Given the description of an element on the screen output the (x, y) to click on. 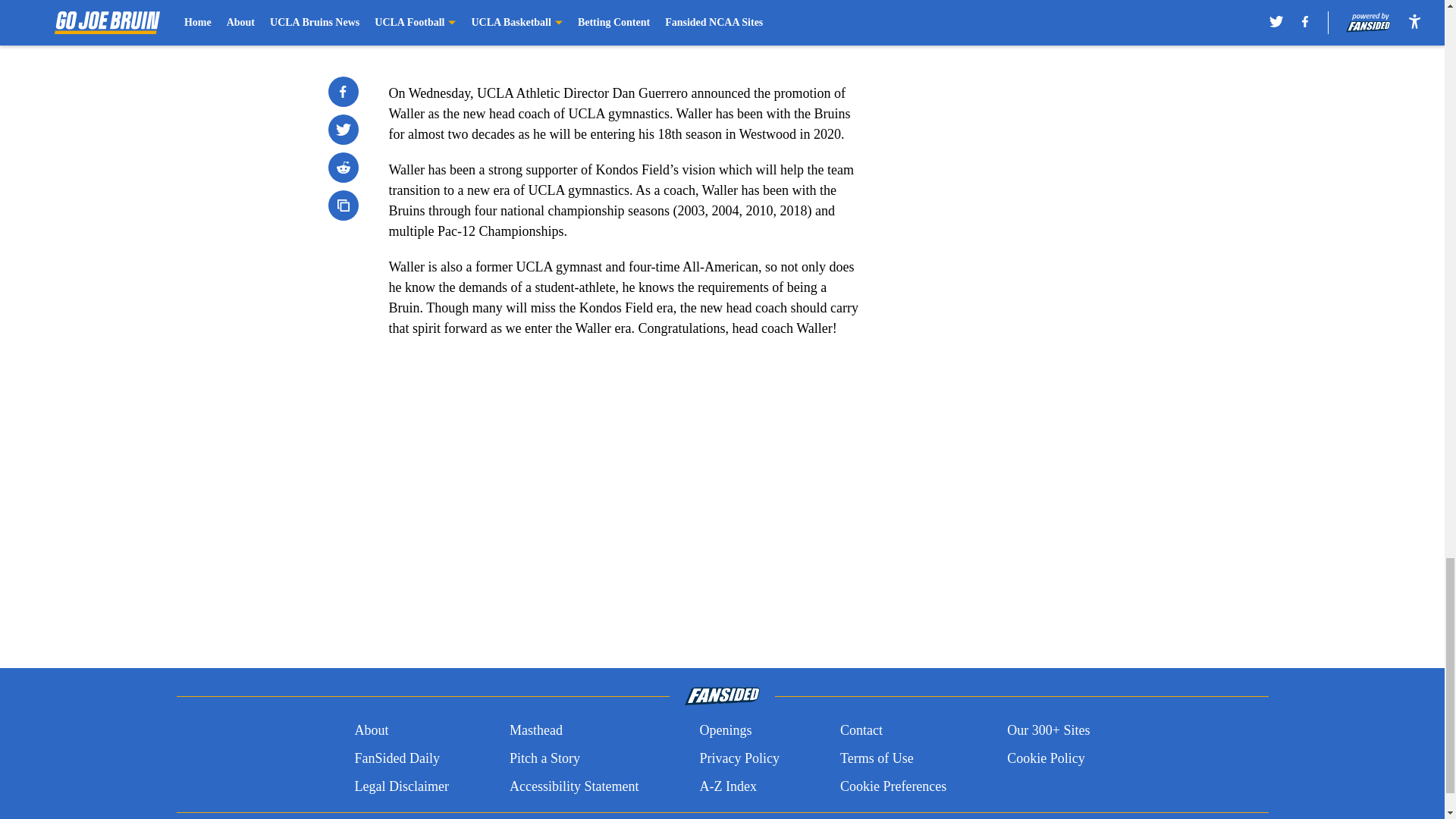
Openings (724, 730)
Masthead (535, 730)
Legal Disclaimer (400, 786)
Privacy Policy (738, 758)
FanSided Daily (396, 758)
A-Z Index (726, 786)
Contact (861, 730)
Accessibility Statement (574, 786)
Cookie Policy (1045, 758)
About (370, 730)
Pitch a Story (544, 758)
Terms of Use (877, 758)
